Given the description of an element on the screen output the (x, y) to click on. 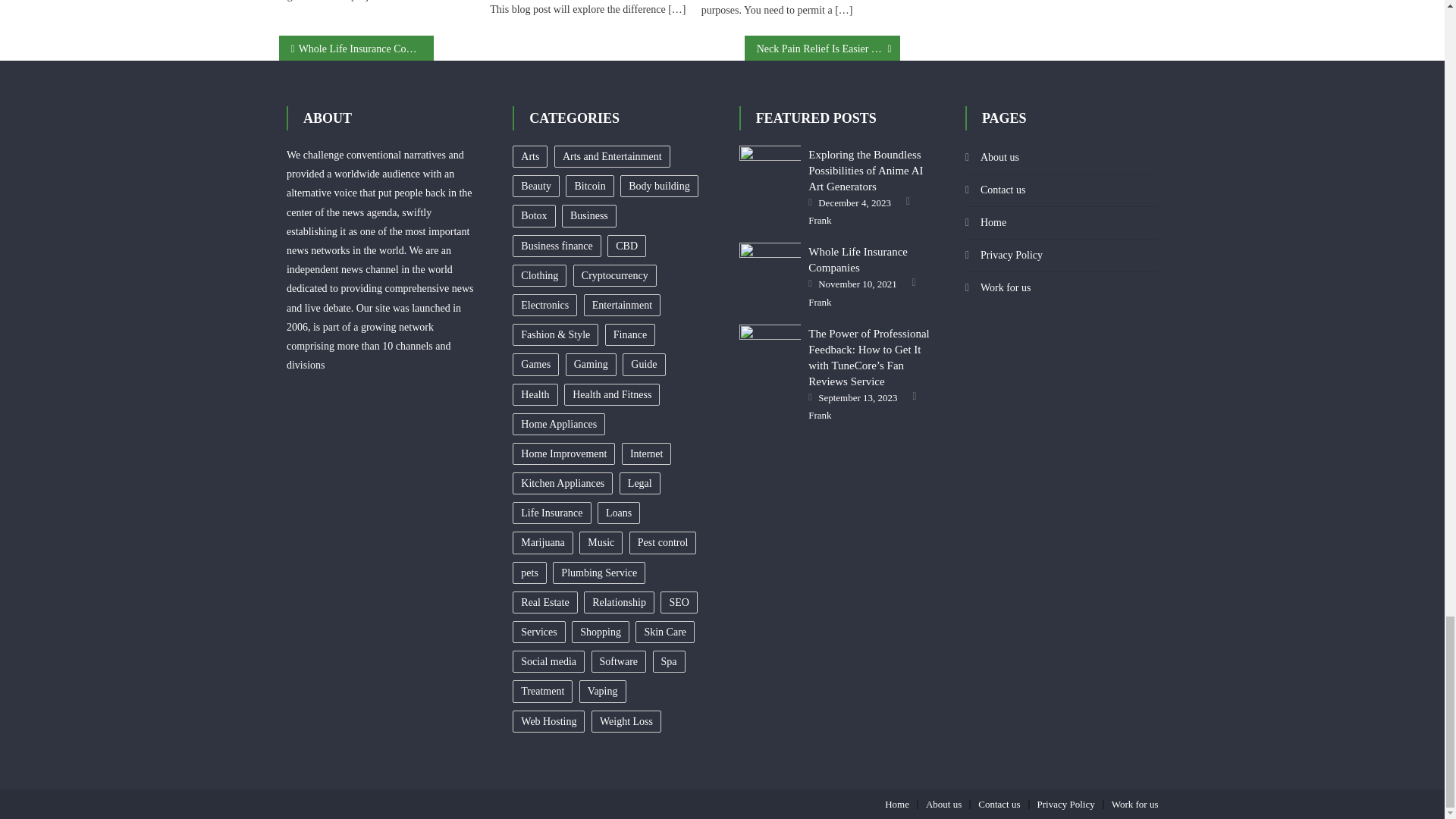
Whole Life Insurance Companies (769, 264)
